Given the description of an element on the screen output the (x, y) to click on. 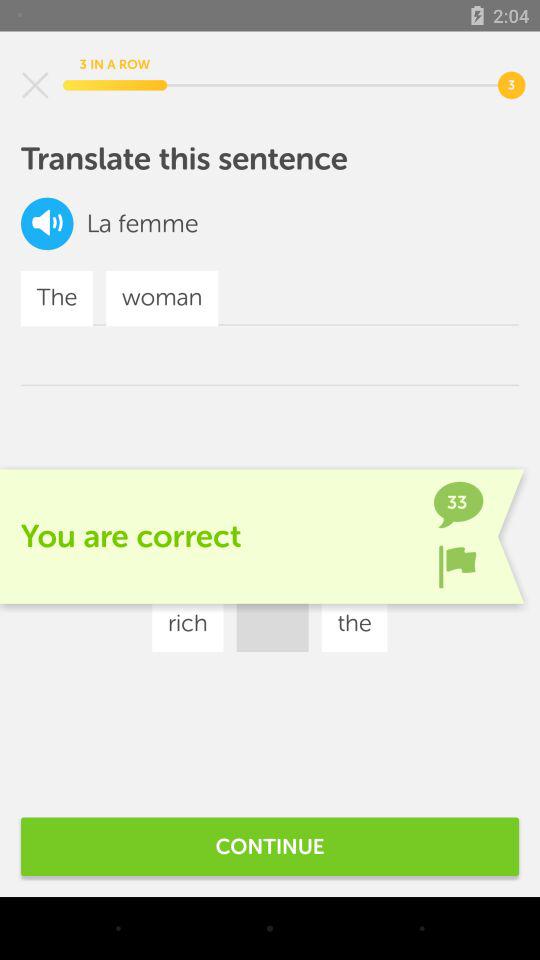
turn off icon below the translate this sentence icon (98, 223)
